Given the description of an element on the screen output the (x, y) to click on. 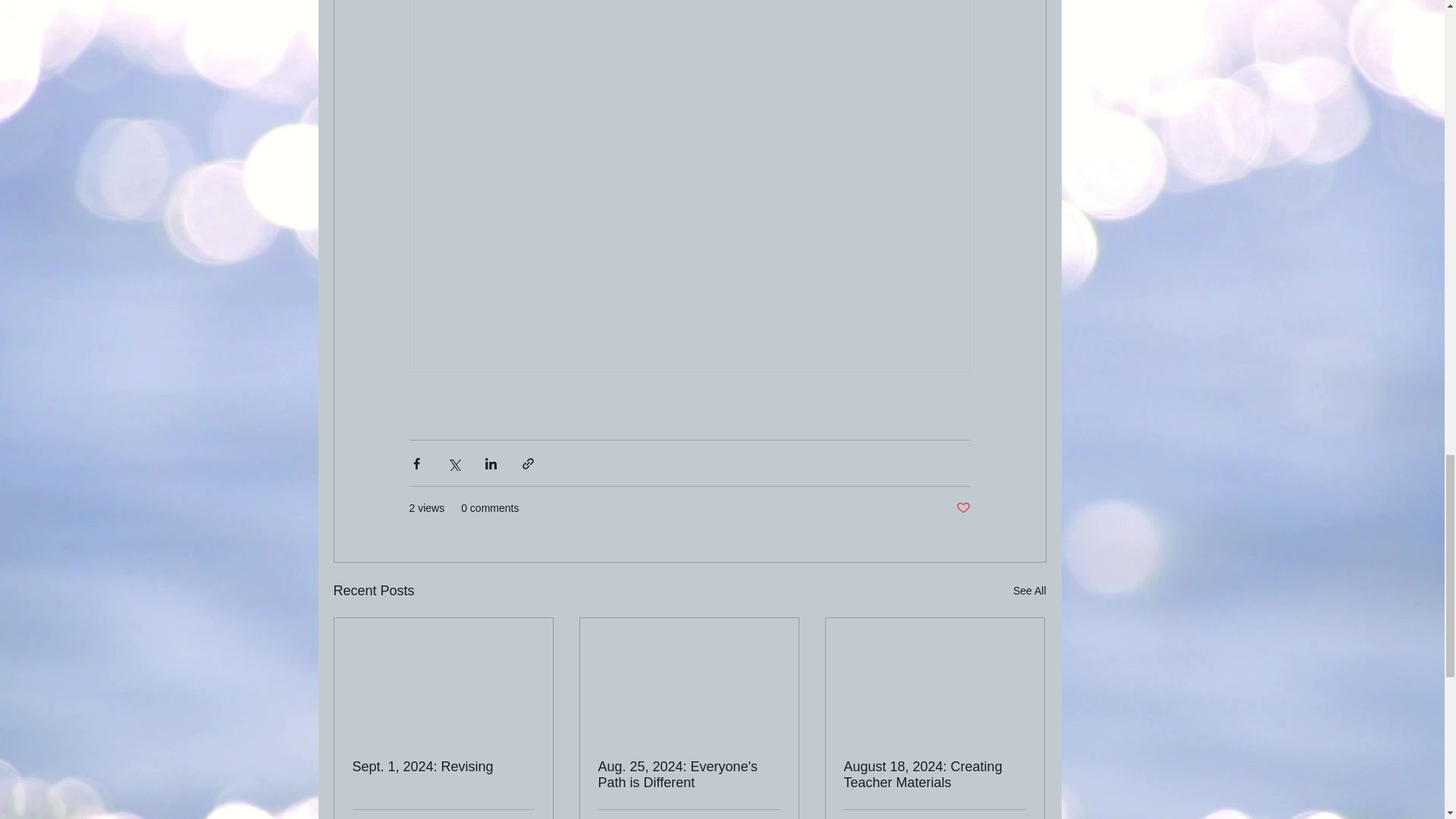
Post not marked as liked (962, 508)
See All (1029, 590)
August 18, 2024: Creating Teacher Materials (934, 775)
Aug. 25, 2024: Everyone's Path is Different (687, 775)
Sept. 1, 2024: Revising (443, 766)
